Given the description of an element on the screen output the (x, y) to click on. 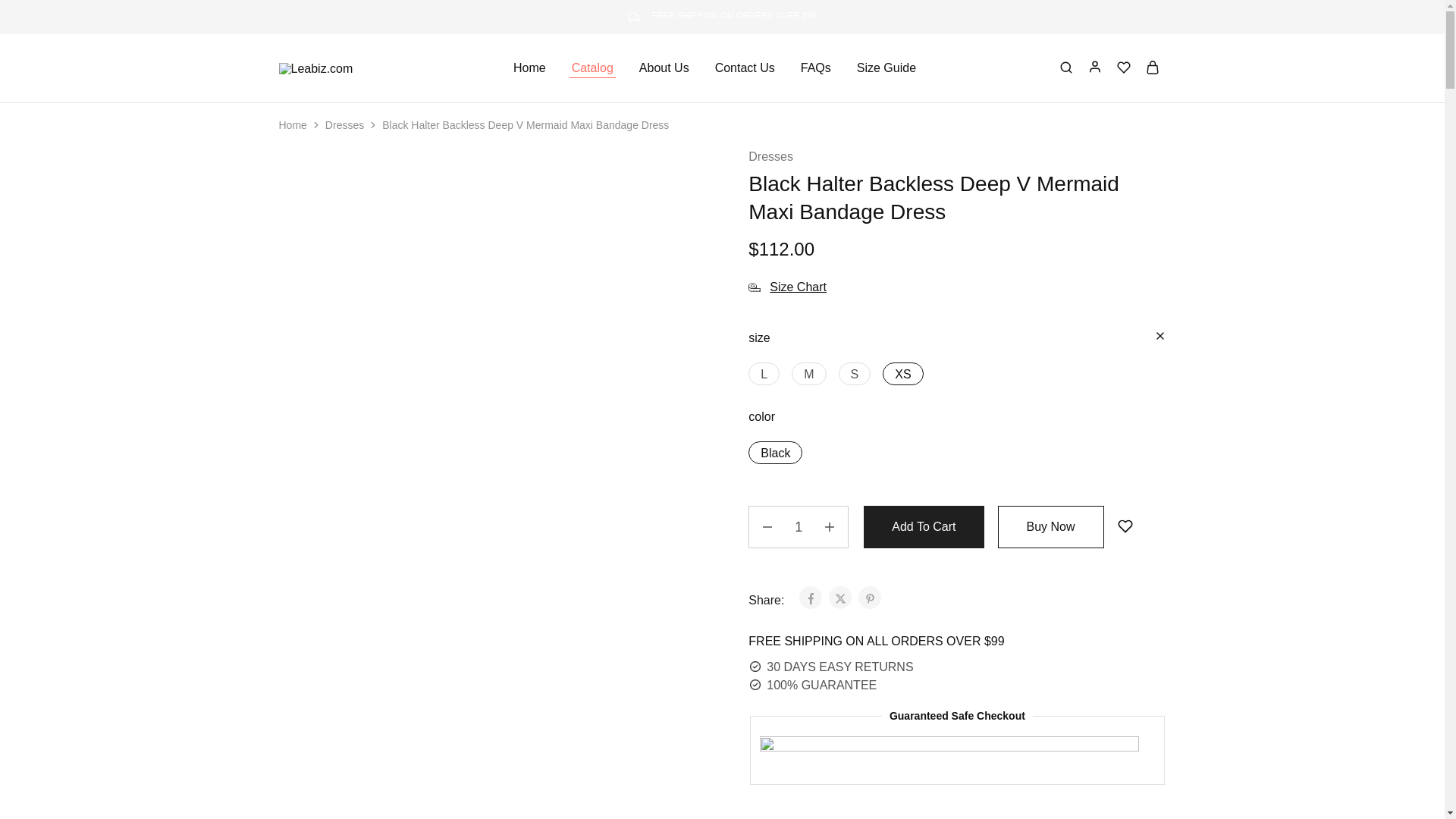
Catalog (592, 67)
Add To Cart (923, 526)
Dresses (344, 124)
Contact Us (745, 67)
Size Guide (886, 67)
Size Chart (787, 287)
Home (529, 67)
FAQs (814, 67)
About Us (664, 67)
Home (293, 124)
Buy Now (1050, 526)
Dresses (770, 157)
